Given the description of an element on the screen output the (x, y) to click on. 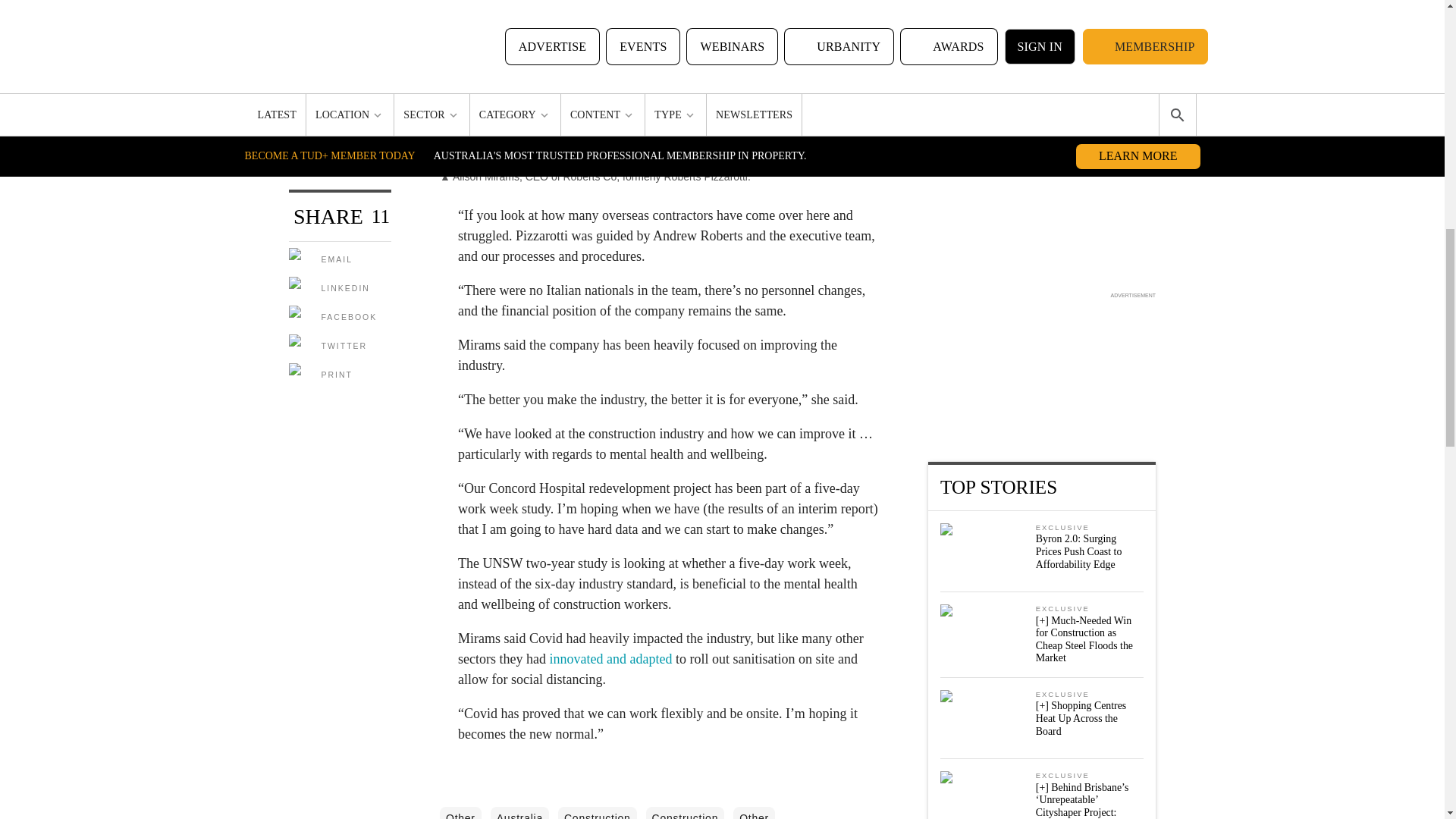
Construction (685, 812)
Other (753, 812)
innovated and adapted (609, 658)
Australia (519, 812)
Construction (597, 812)
Other (460, 812)
